Given the description of an element on the screen output the (x, y) to click on. 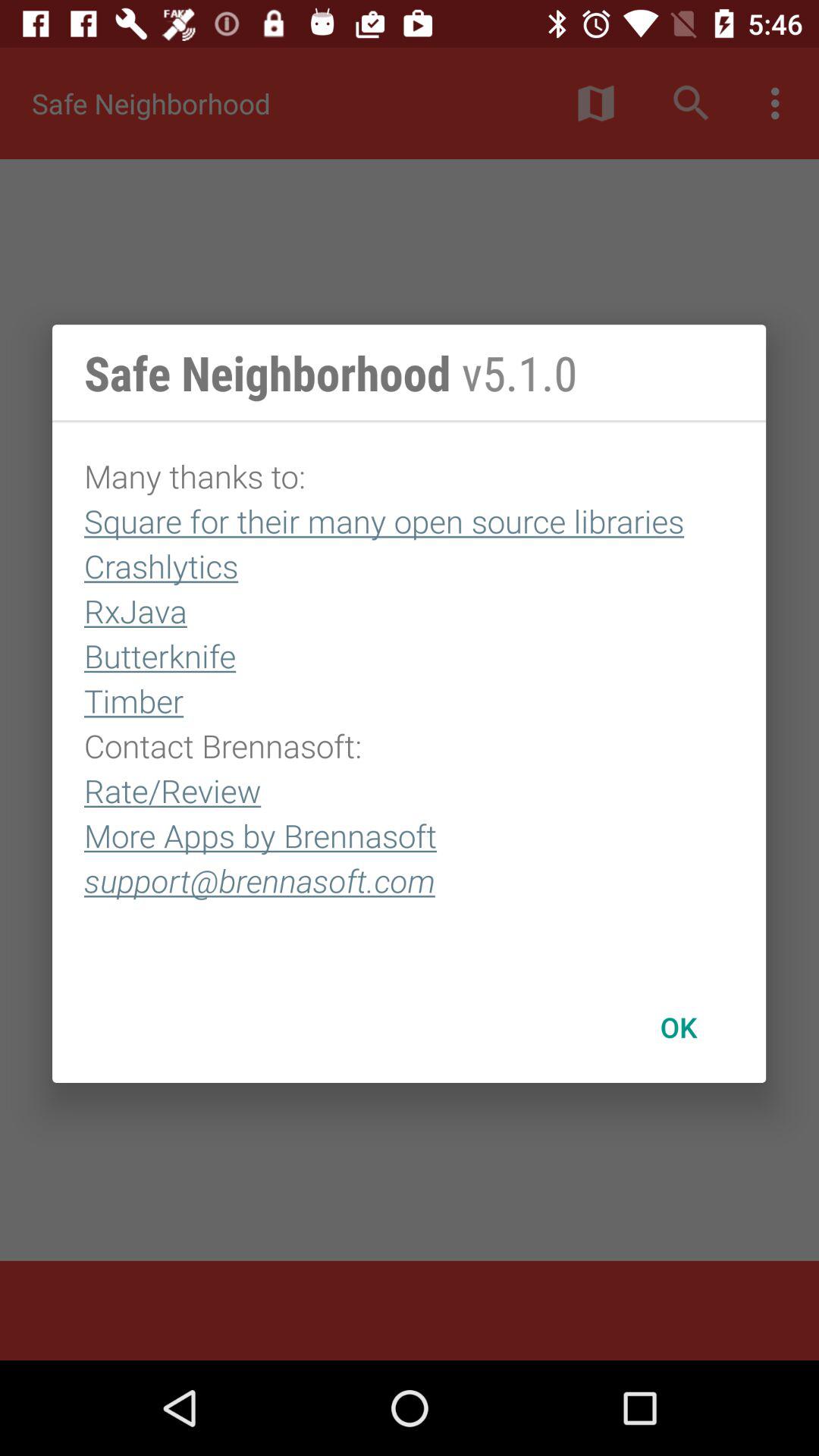
tap many thanks to (409, 696)
